Given the description of an element on the screen output the (x, y) to click on. 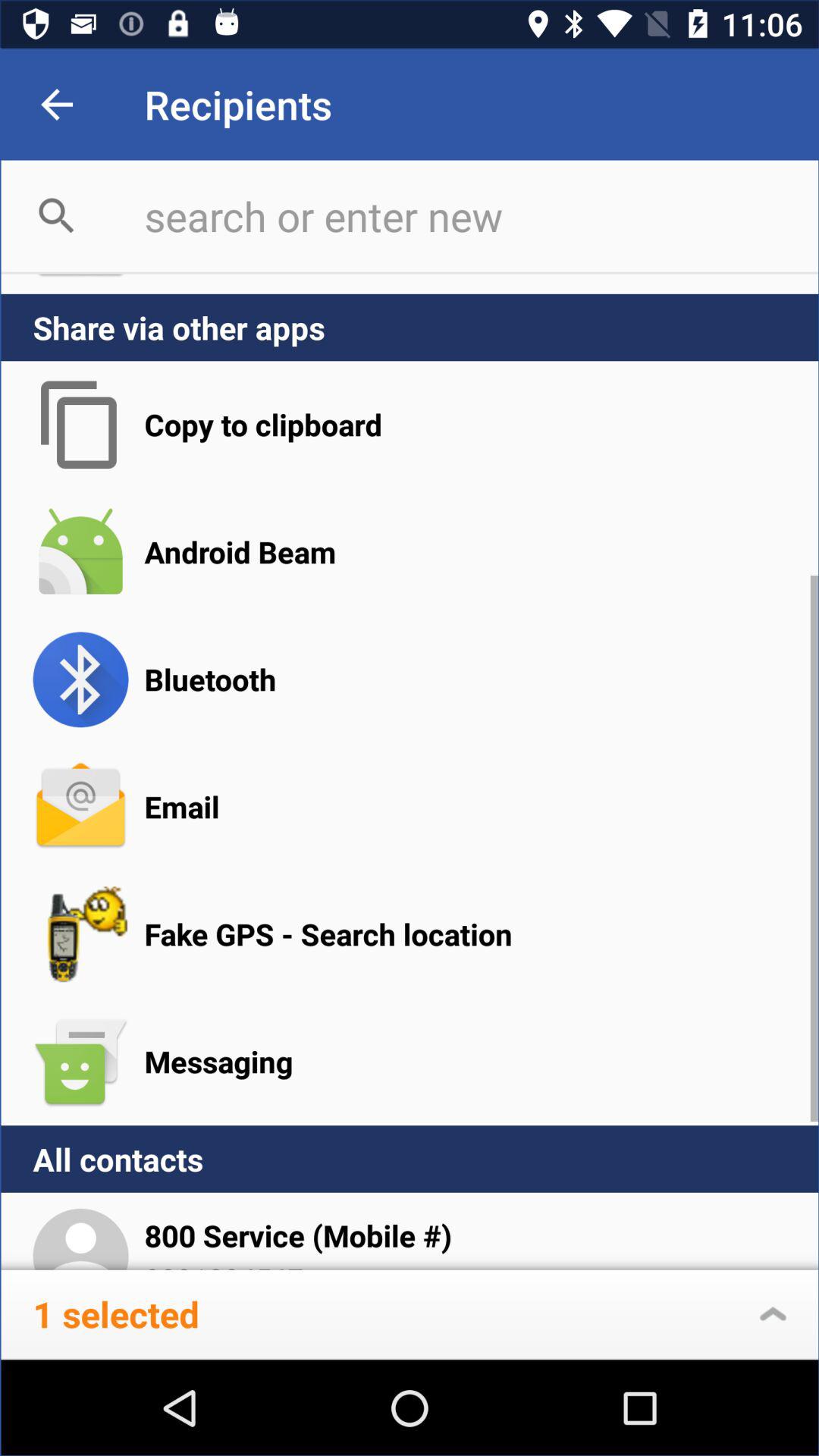
click on the icon next to 800 service mobile  (80, 1220)
click on arrow icon next to recipients (57, 104)
